Given the description of an element on the screen output the (x, y) to click on. 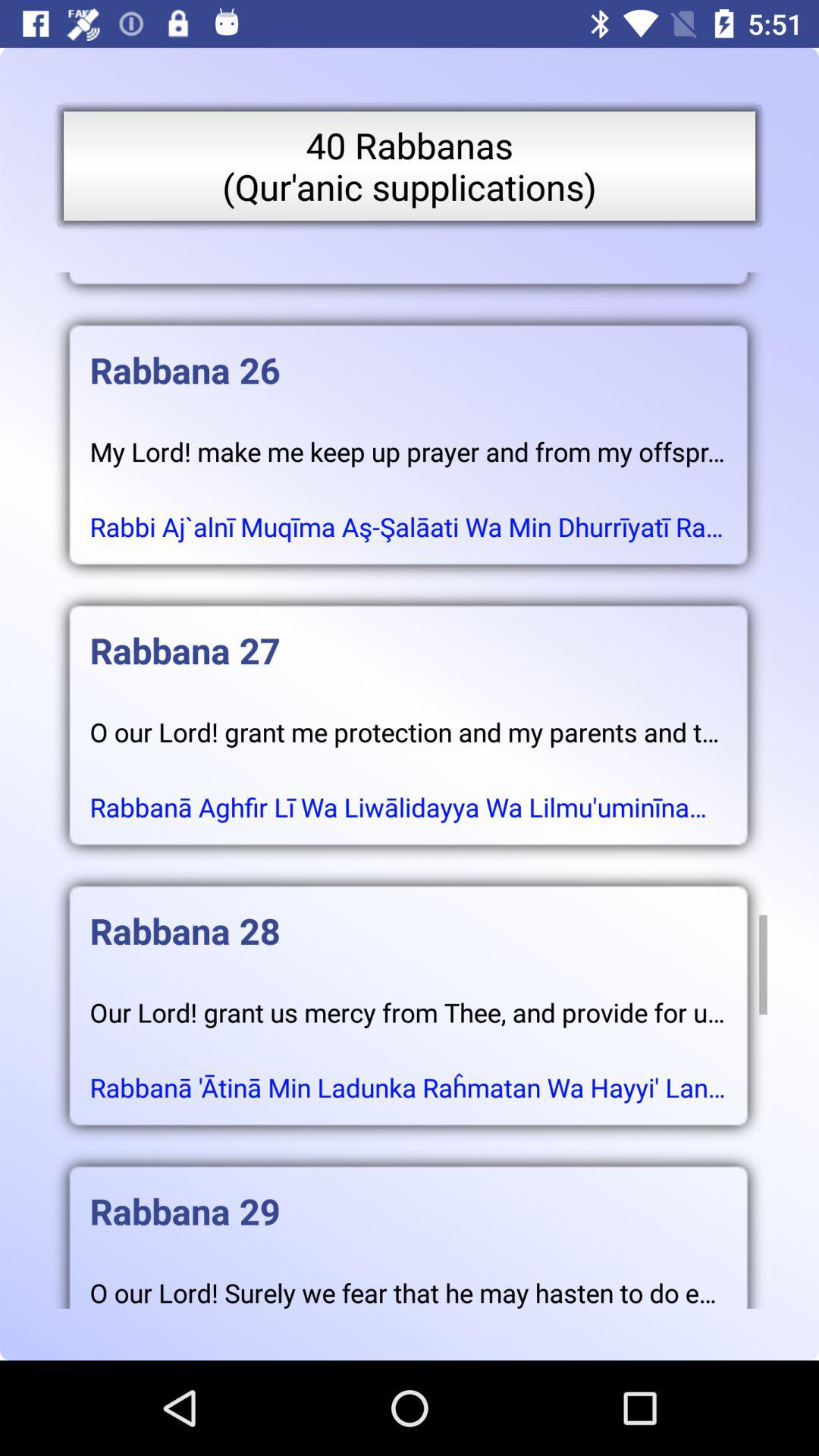
swipe to the rabbana 27 icon (408, 635)
